Given the description of an element on the screen output the (x, y) to click on. 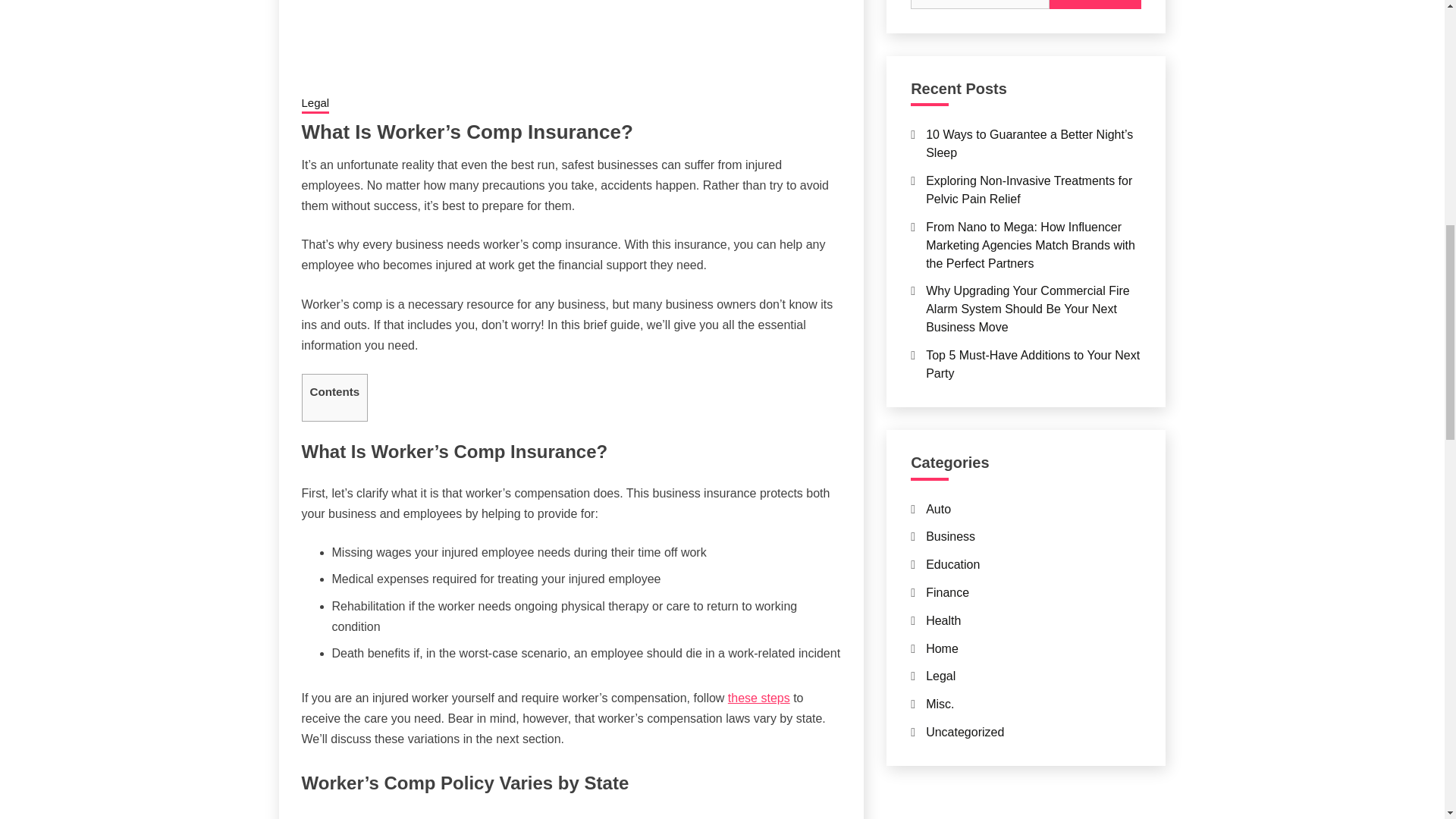
these steps (759, 697)
Legal (315, 104)
Search (1095, 4)
Exploring Non-Invasive Treatments for Pelvic Pain Relief (1029, 189)
Search (1095, 4)
Search (1095, 4)
